Given the description of an element on the screen output the (x, y) to click on. 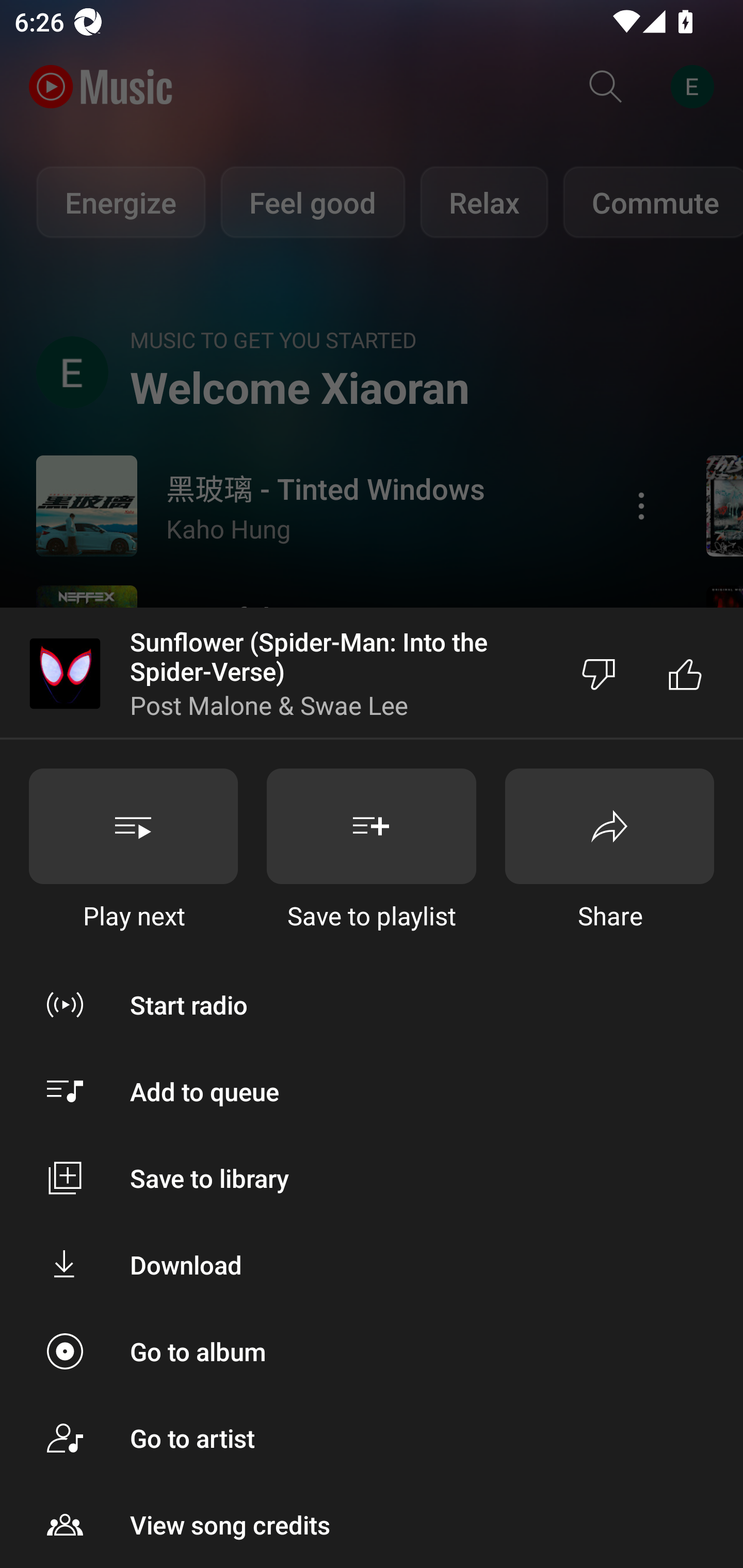
Dislike (598, 673)
Like (684, 673)
Start radio (371, 1004)
Add to queue (371, 1091)
Save to library (371, 1178)
Download (371, 1264)
Go to album (371, 1350)
Go to artist (371, 1437)
View song credits (371, 1524)
